Given the description of an element on the screen output the (x, y) to click on. 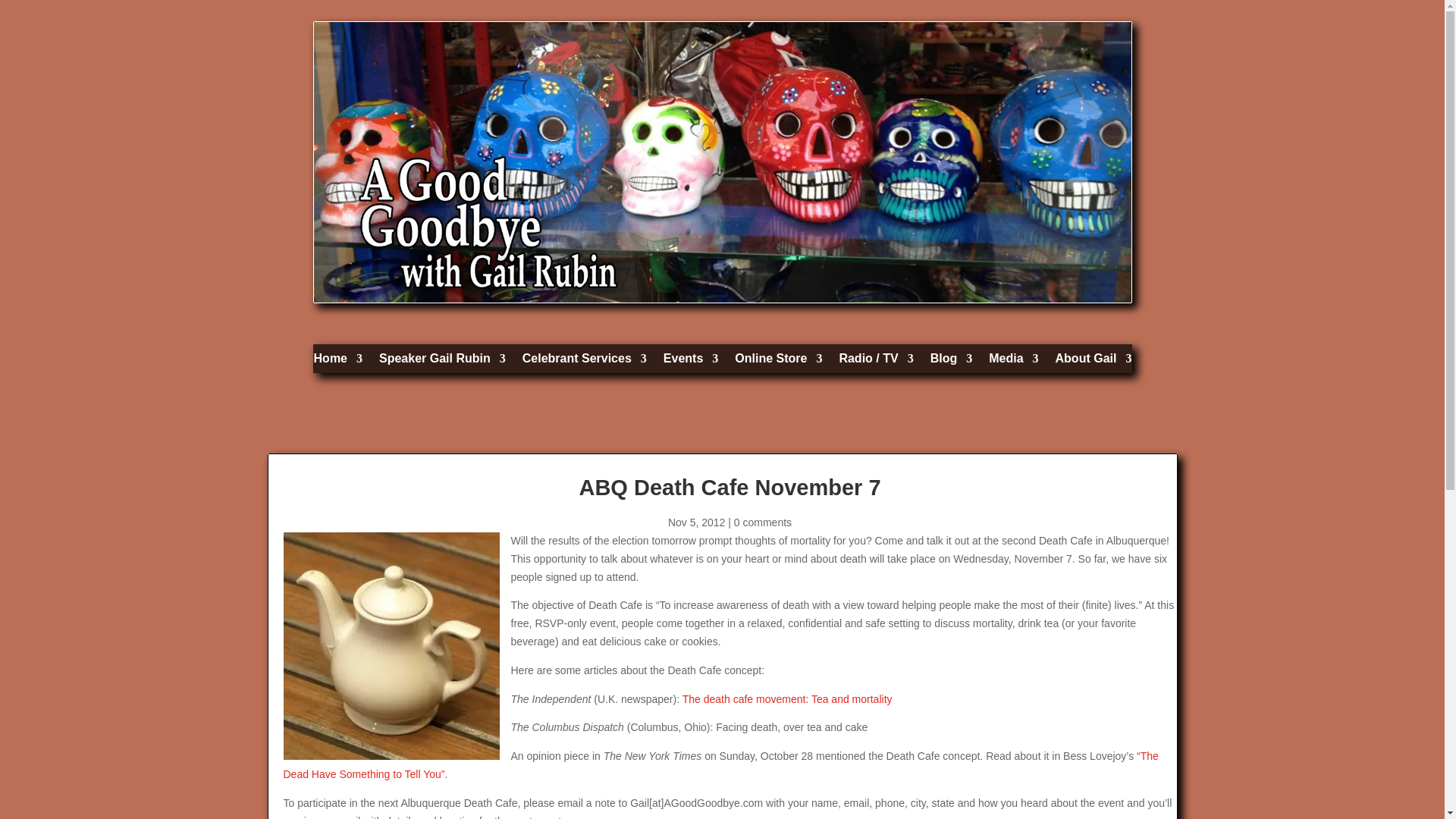
Celebrant Services (584, 361)
About Gail (1093, 361)
Online Store (778, 361)
Home (338, 361)
Events (690, 361)
Blog (951, 361)
Speaker Gail Rubin (441, 361)
Media (1013, 361)
Funeral Services (584, 361)
